Given the description of an element on the screen output the (x, y) to click on. 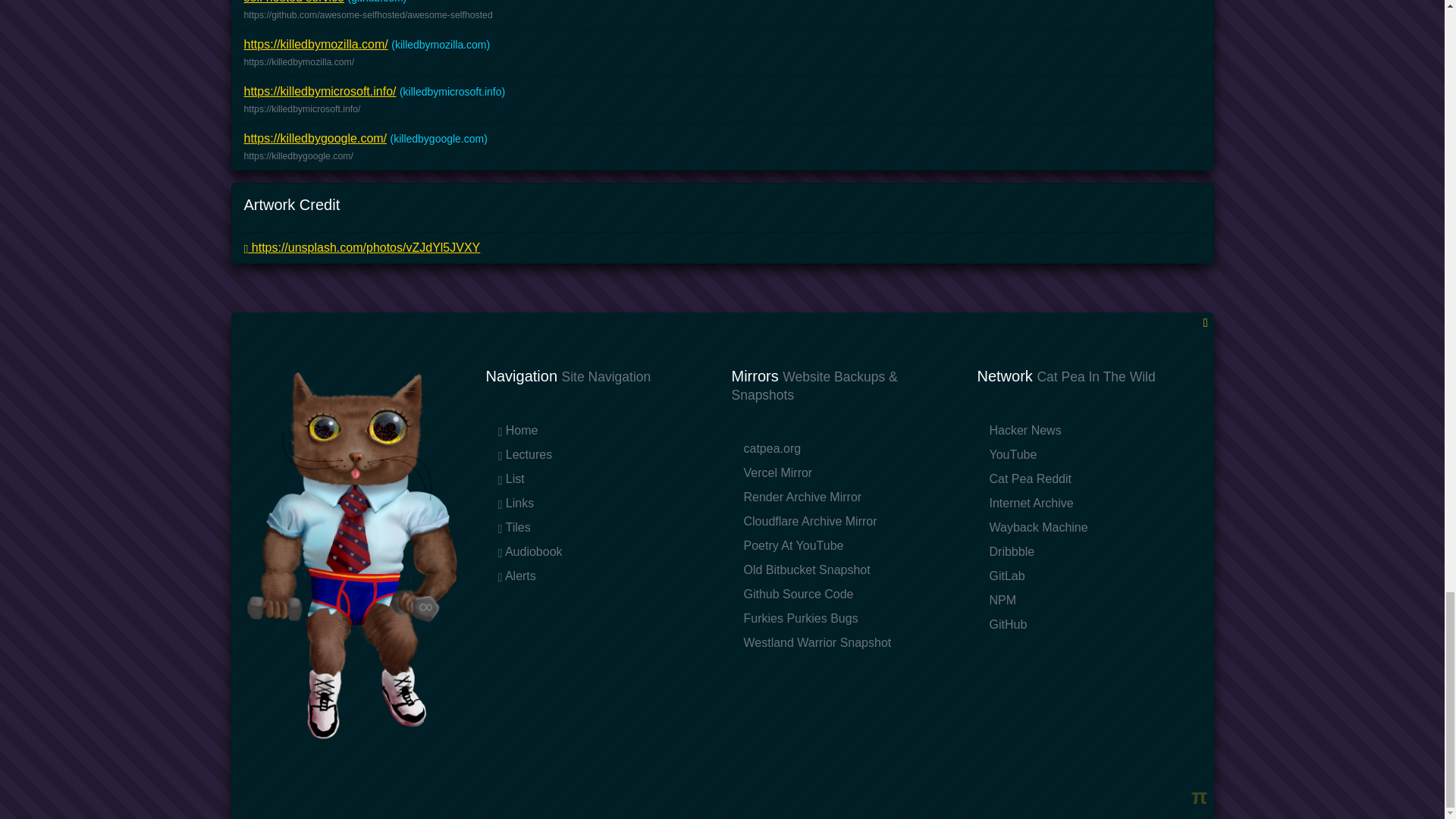
Home (517, 430)
List (510, 478)
self hosted service (294, 2)
Lectures (524, 454)
Tiles (513, 526)
Links (515, 502)
